Given the description of an element on the screen output the (x, y) to click on. 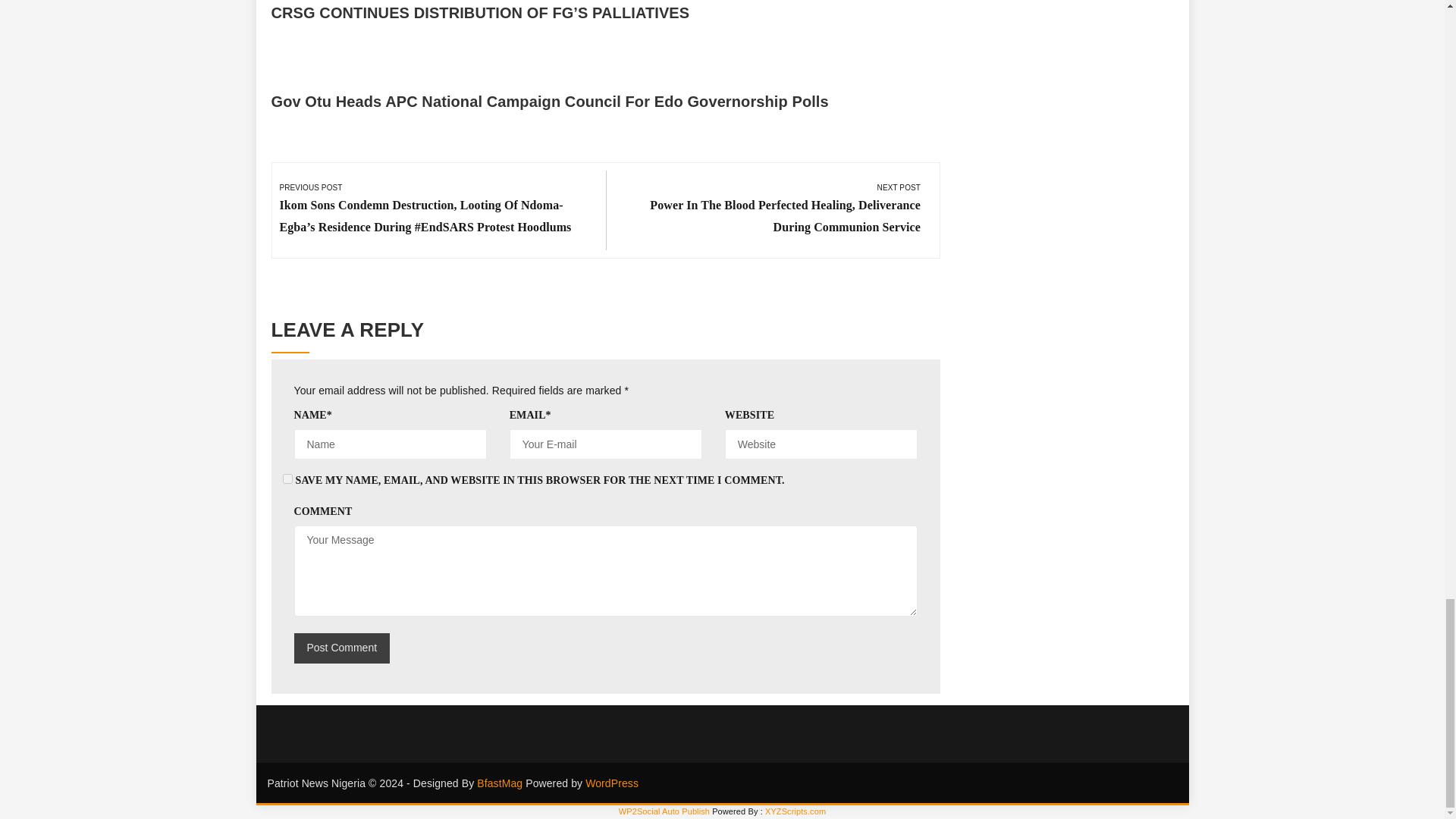
Post Comment (342, 648)
yes (287, 479)
Post Comment (342, 648)
